Given the description of an element on the screen output the (x, y) to click on. 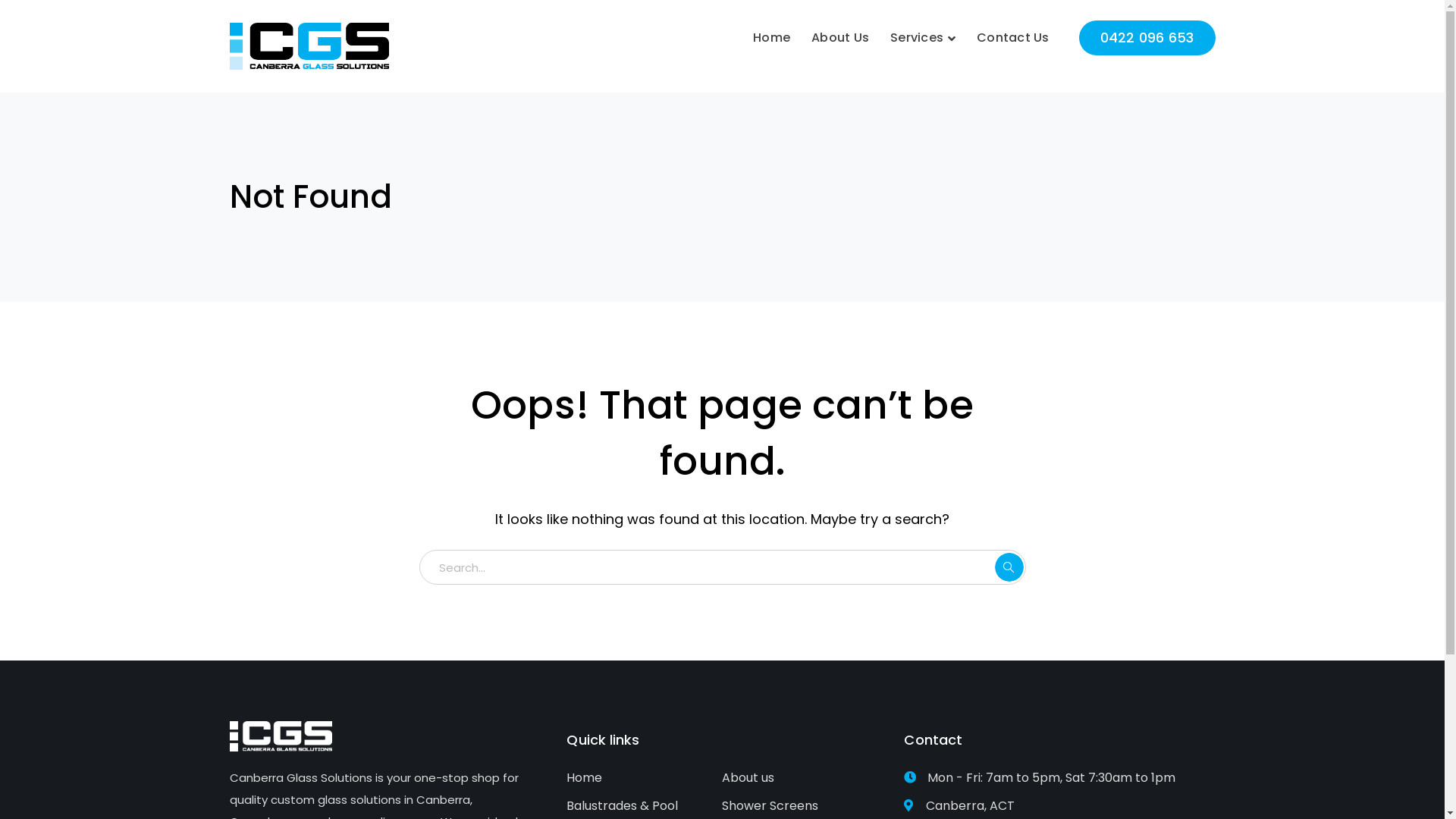
Canberra Glass Solutions Element type: hover (308, 44)
SEARCH Element type: text (1008, 566)
About us Element type: text (747, 778)
About Us Element type: text (840, 27)
Search for: Element type: hover (721, 566)
Shower Screens Element type: text (769, 806)
Canberra, ACT Element type: text (1058, 806)
Contact Us Element type: text (1012, 27)
Home Element type: text (584, 778)
Home Element type: text (771, 27)
Services Element type: text (922, 27)
0422 096 653 Element type: text (1146, 37)
